Given the description of an element on the screen output the (x, y) to click on. 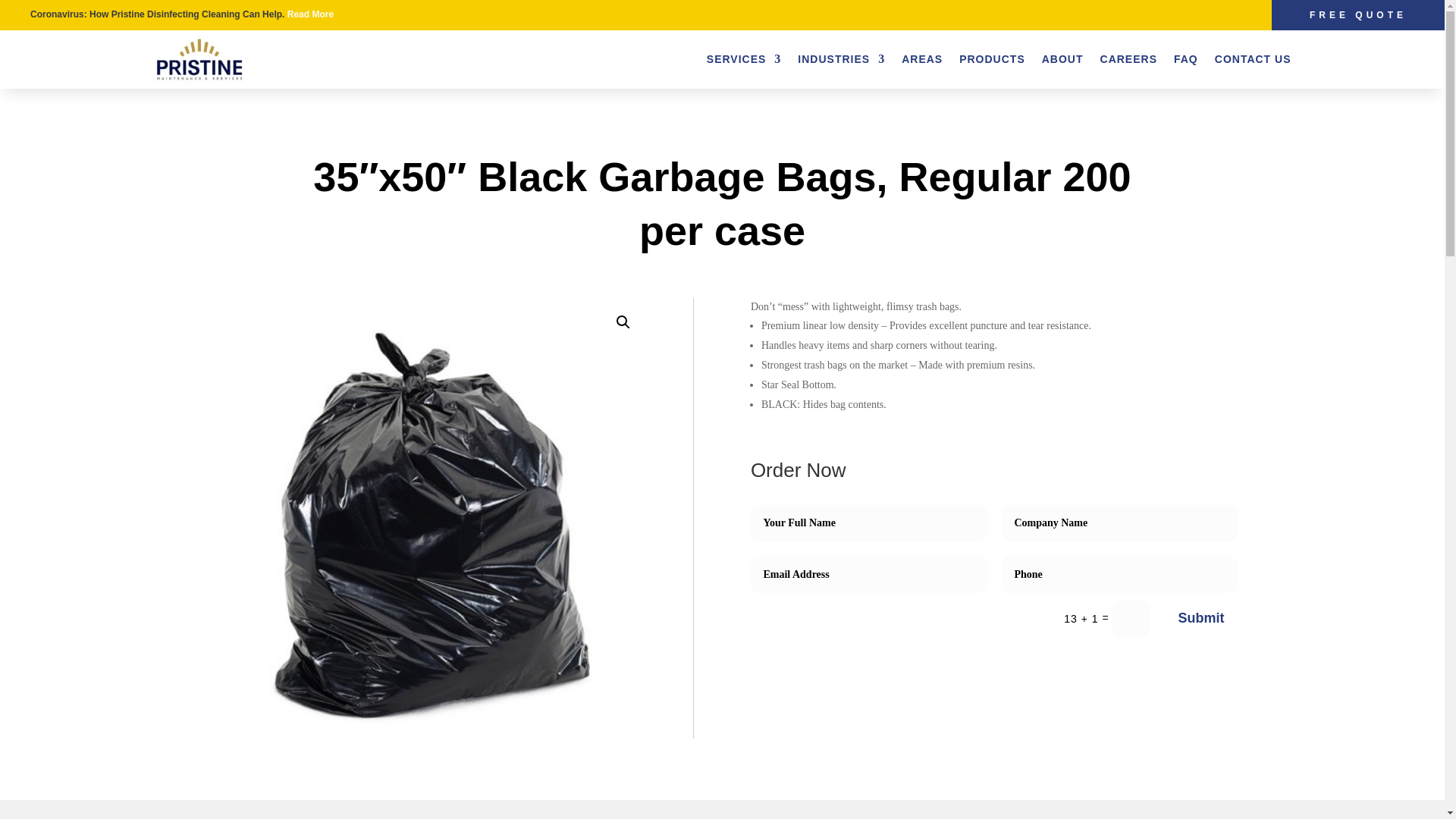
SERVICES (743, 58)
INDUSTRIES (841, 58)
Read More (309, 14)
CAREERS (1128, 58)
CONTACT US (1252, 58)
Only numbers allowed. (1119, 574)
PRODUCTS (992, 58)
